Given the description of an element on the screen output the (x, y) to click on. 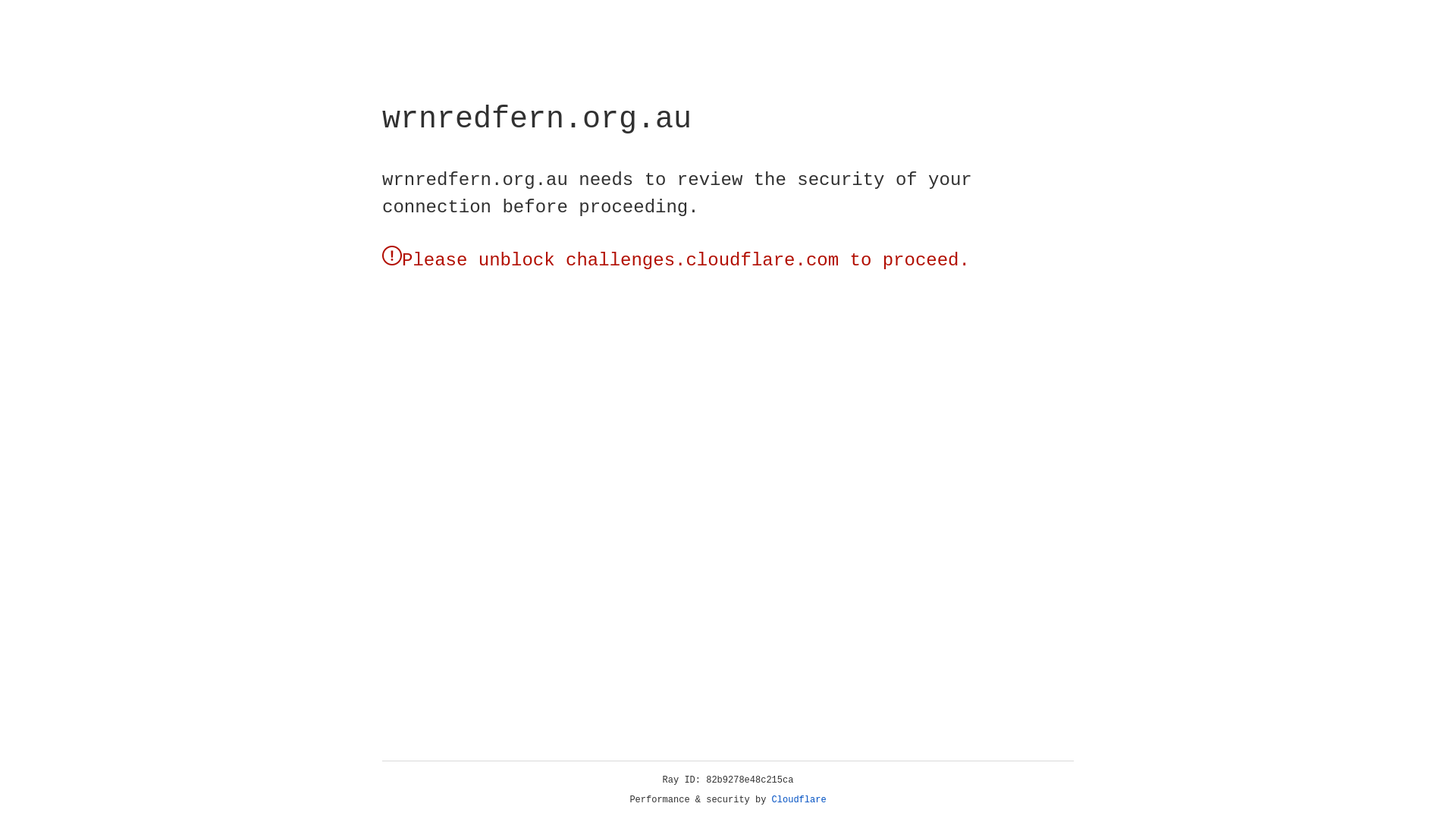
Cloudflare Element type: text (798, 799)
